Given the description of an element on the screen output the (x, y) to click on. 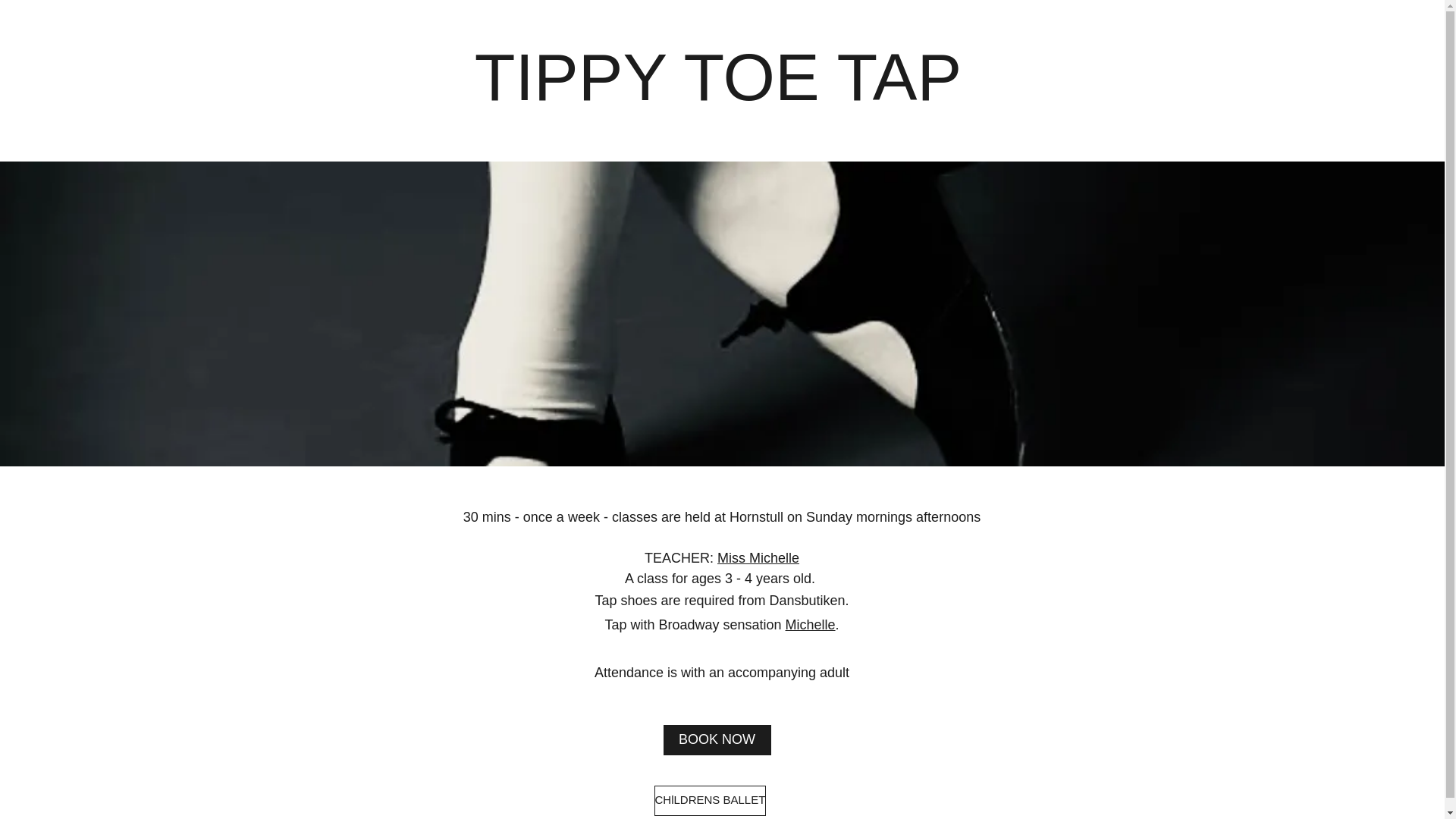
CHlLDRENS BALLET (709, 800)
Michelle (810, 624)
BOOK NOW (716, 739)
Miss Michelle (758, 557)
